Given the description of an element on the screen output the (x, y) to click on. 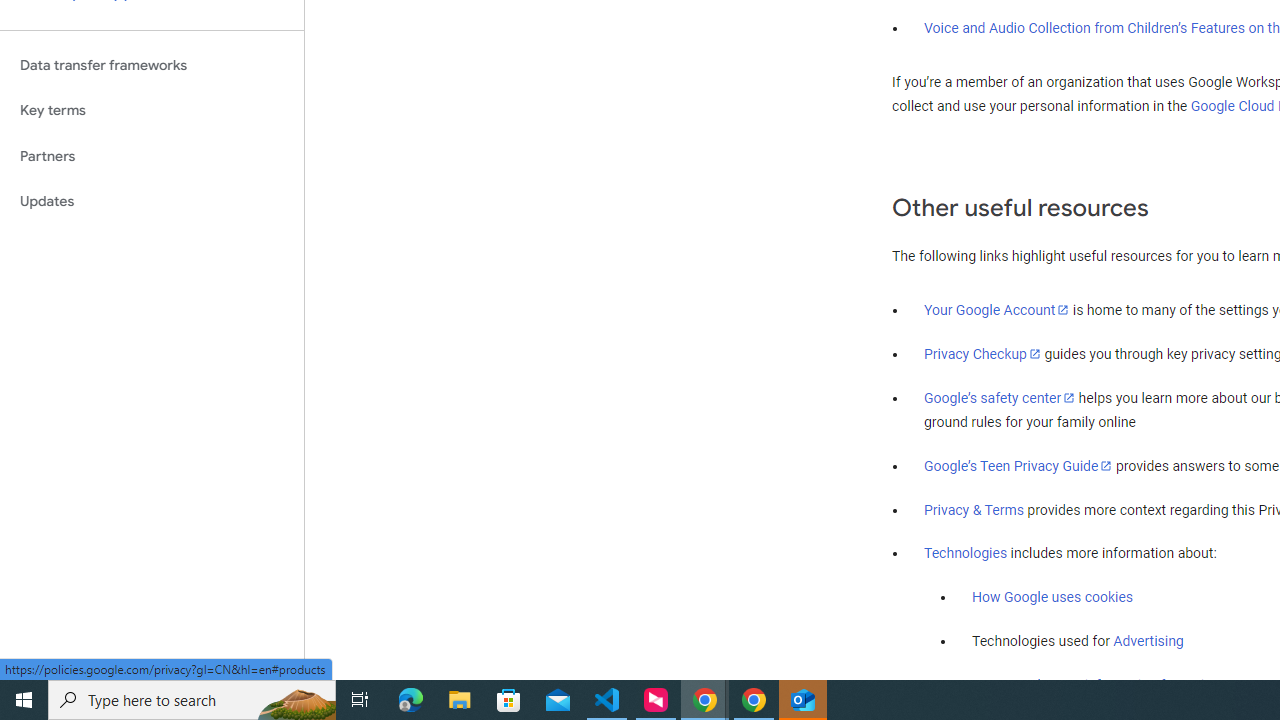
Advertising (1148, 641)
Privacy Checkup (982, 353)
Your Google Account (997, 309)
How Google uses cookies (1052, 597)
